Given the description of an element on the screen output the (x, y) to click on. 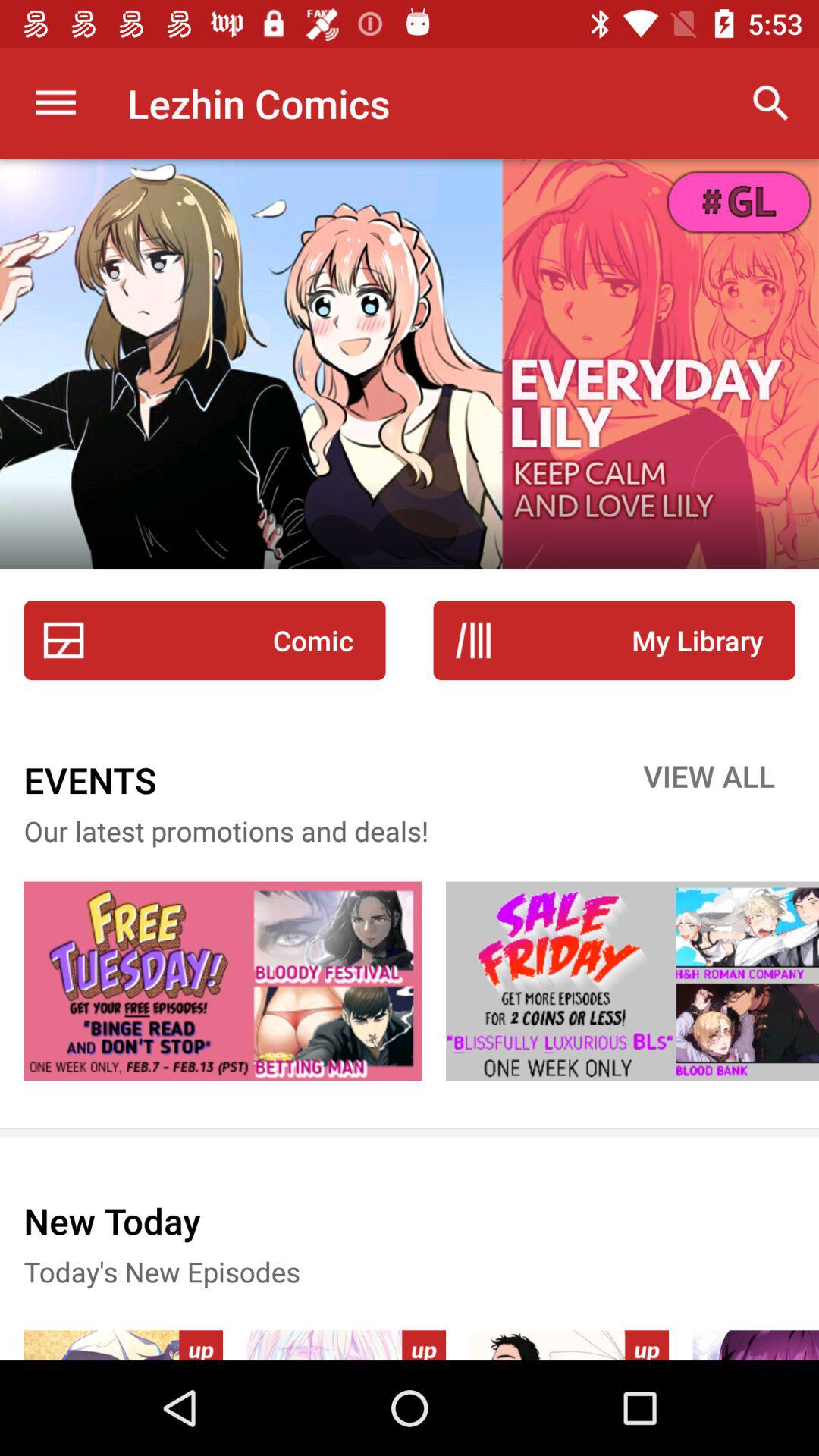
select icon to the right of the events (709, 779)
